Given the description of an element on the screen output the (x, y) to click on. 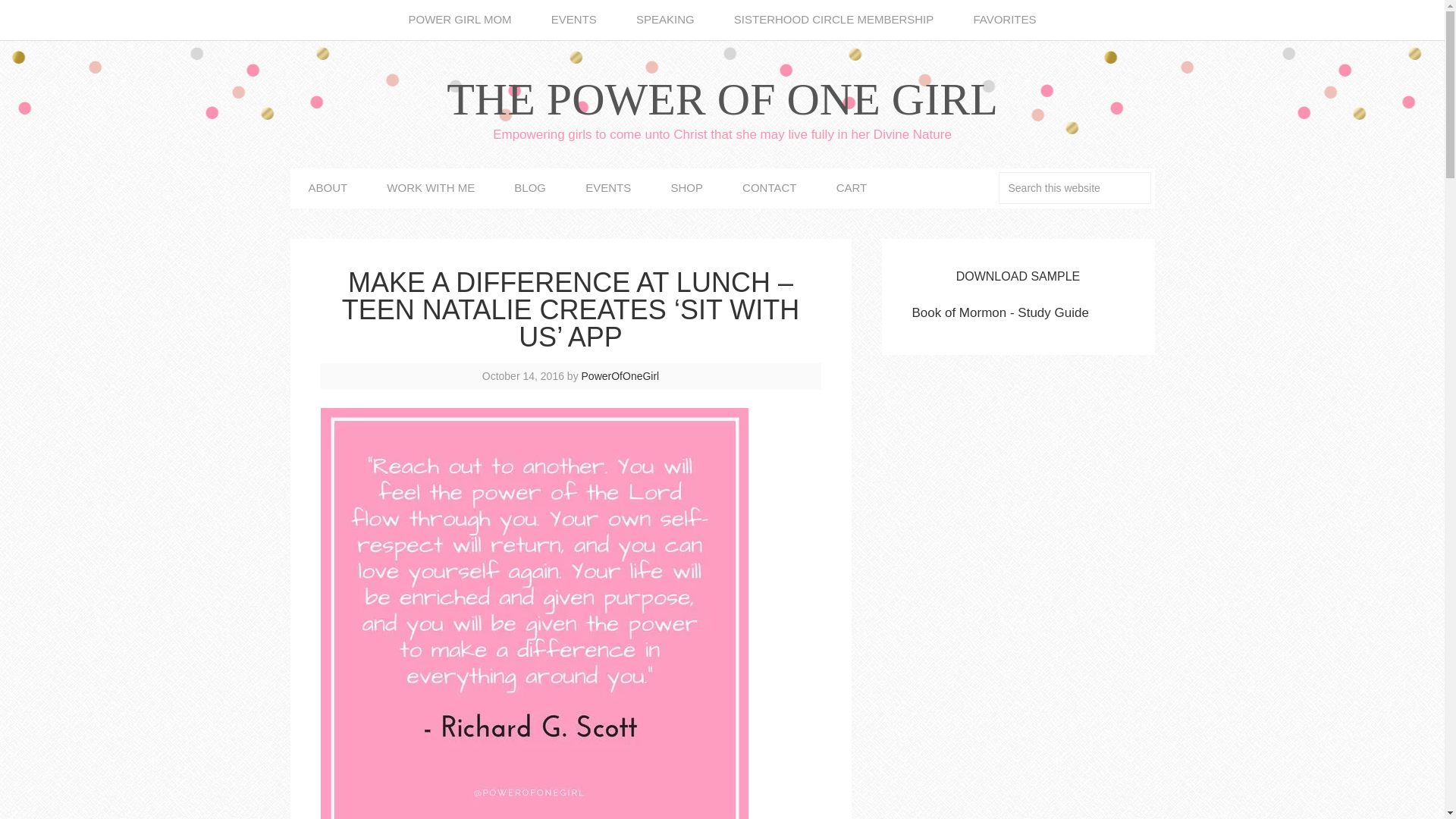
Search (1158, 180)
EVENTS (573, 20)
Search (1158, 180)
CONTACT (768, 188)
SISTERHOOD CIRCLE MEMBERSHIP (834, 20)
FAVORITES (1004, 20)
SPEAKING (665, 20)
ABOUT (327, 188)
SHOP (686, 188)
WORK WITH ME (430, 188)
